Given the description of an element on the screen output the (x, y) to click on. 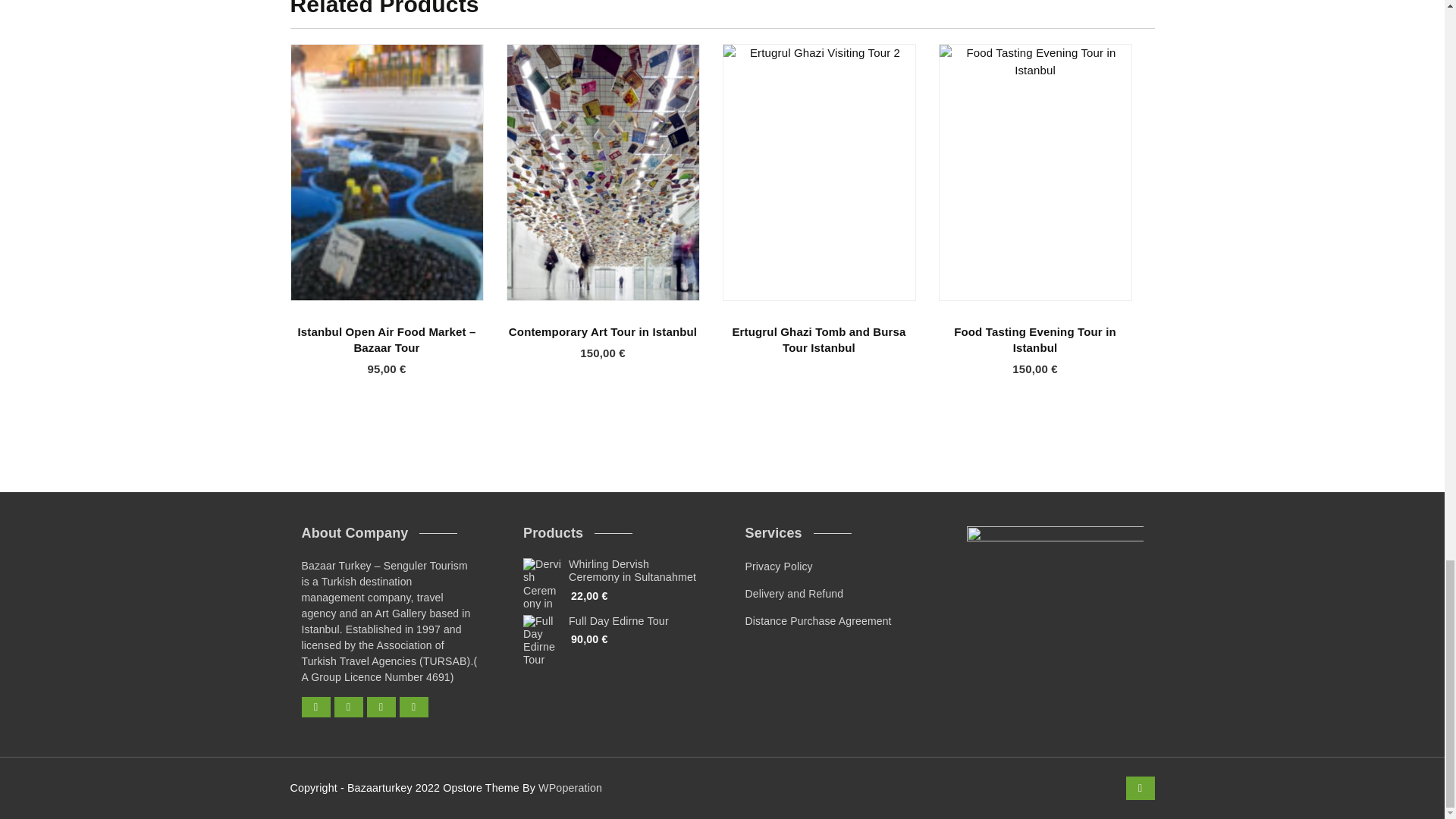
Twitter (347, 706)
Facebook (315, 706)
Instagram (381, 706)
